Given the description of an element on the screen output the (x, y) to click on. 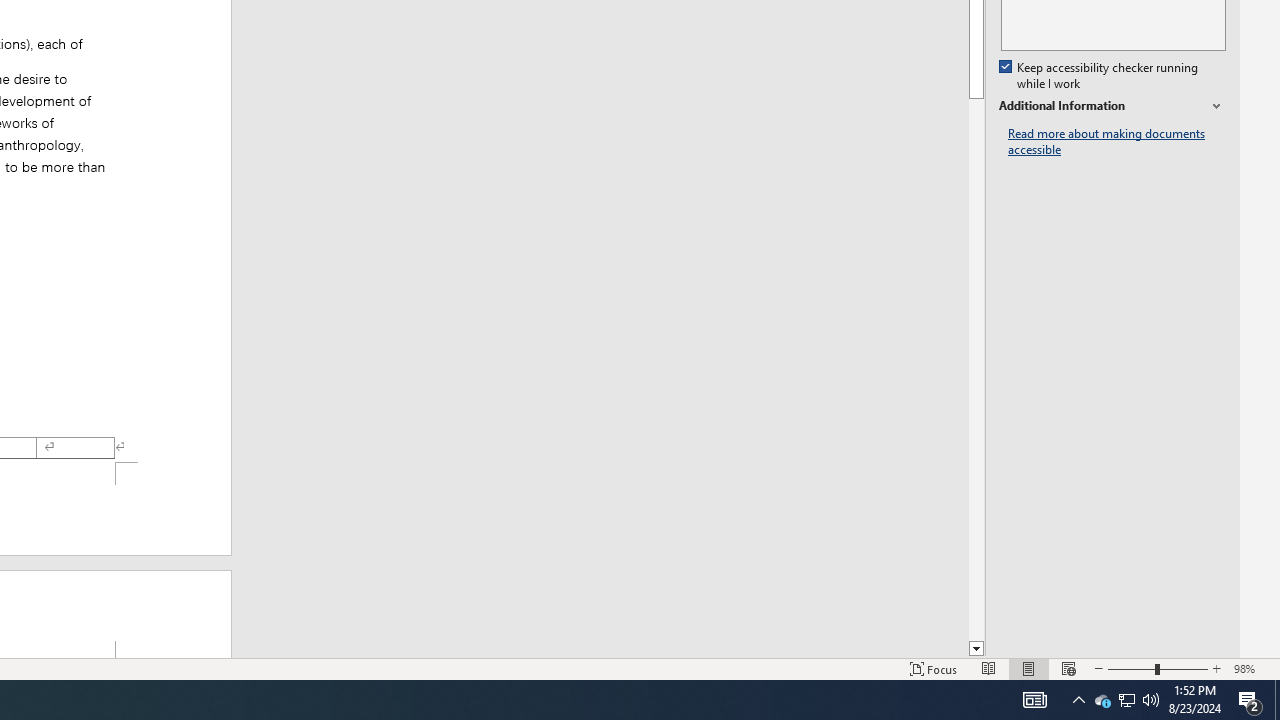
Page down (976, 369)
Read more about making documents accessible (1117, 142)
Line down (976, 649)
Additional Information (1112, 106)
Keep accessibility checker running while I work (1099, 76)
